Given the description of an element on the screen output the (x, y) to click on. 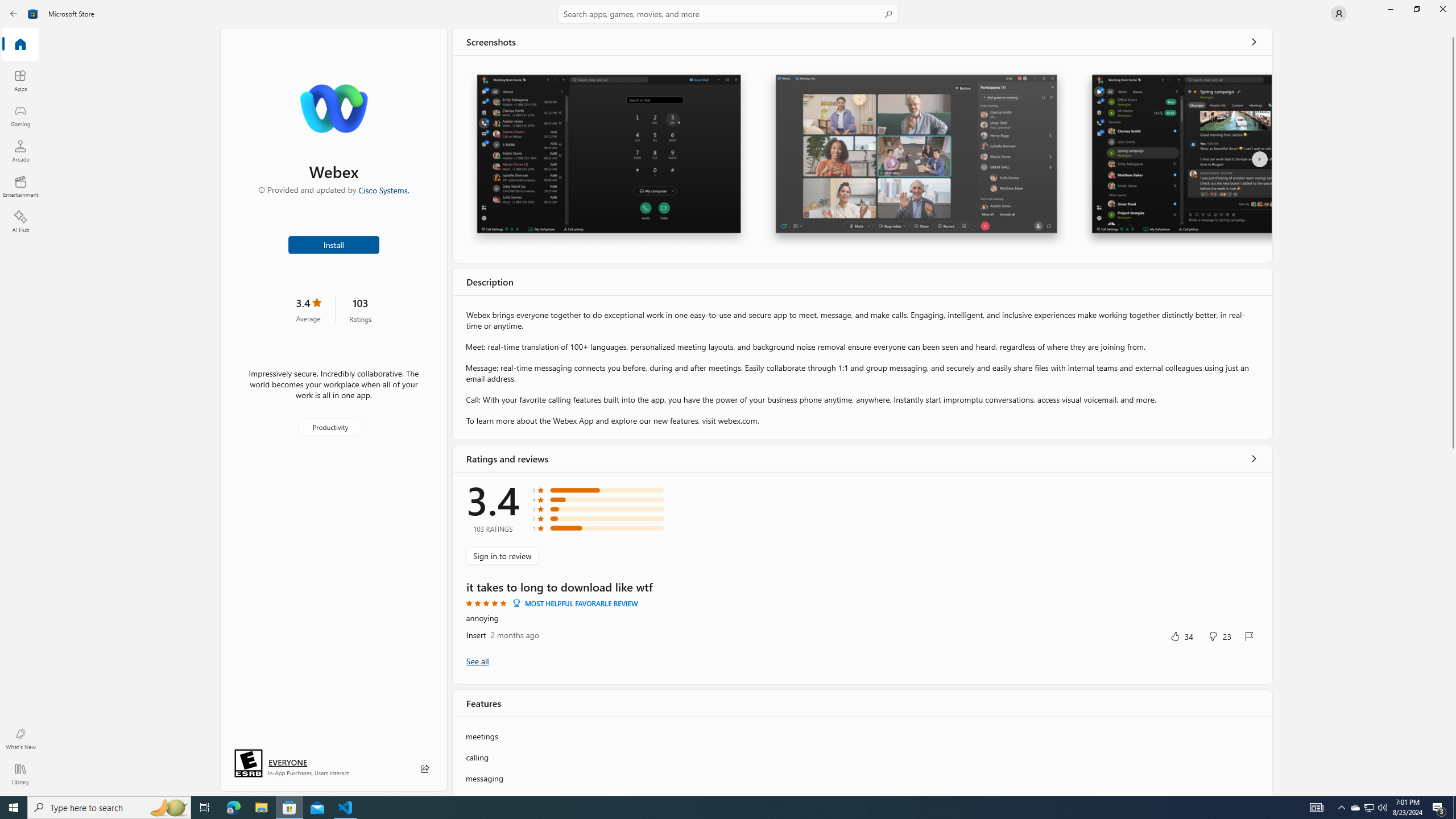
Cisco Systems. (383, 189)
Entertainment (20, 185)
Productivity (329, 426)
No, this was not helpful. 23 votes. (1219, 636)
Screenshot 2 (915, 158)
AutomationID: NavigationControl (728, 398)
Report review (1248, 636)
